Given the description of an element on the screen output the (x, y) to click on. 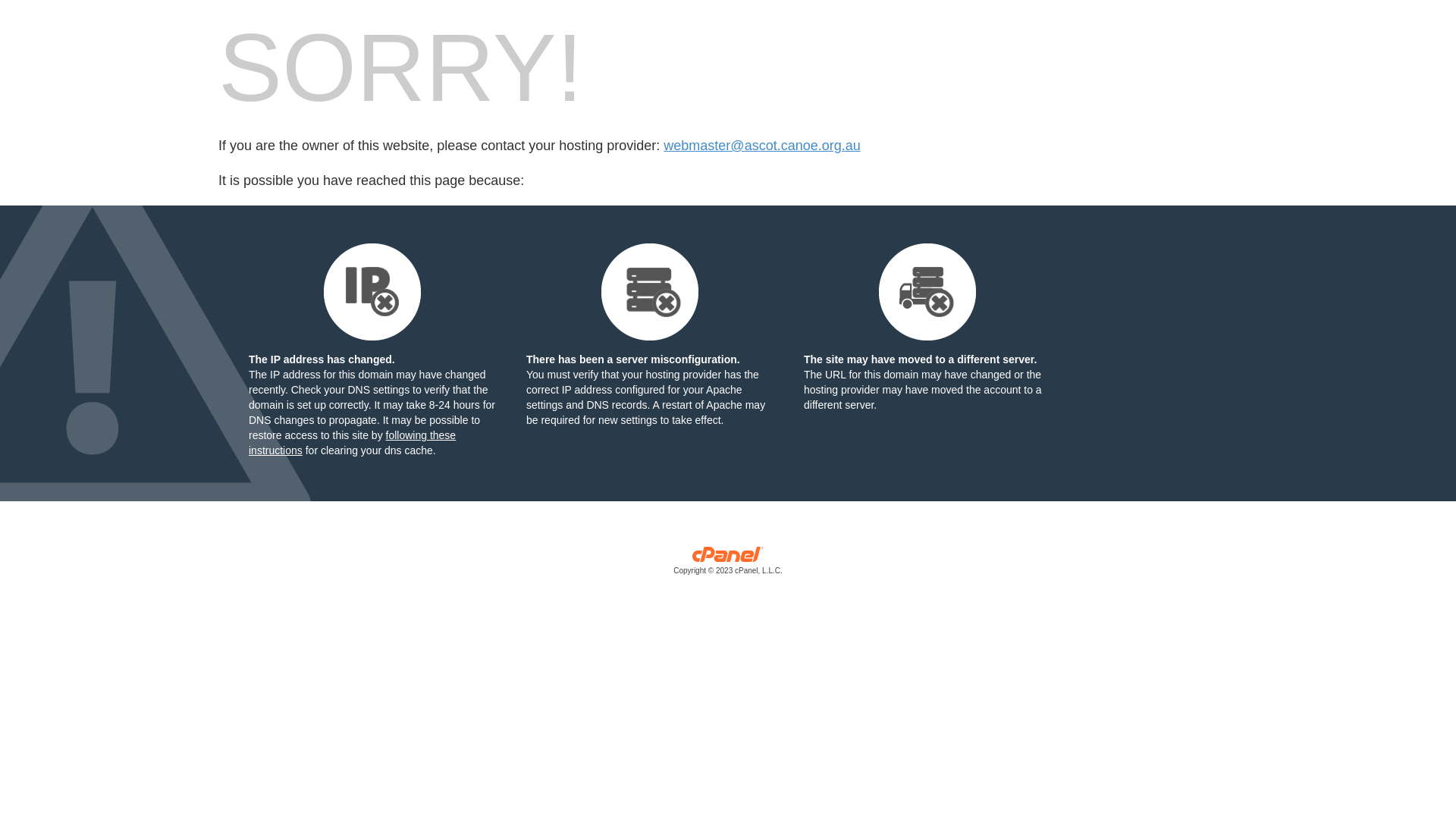
following these instructions Element type: text (351, 442)
webmaster@ascot.canoe.org.au Element type: text (761, 145)
